Given the description of an element on the screen output the (x, y) to click on. 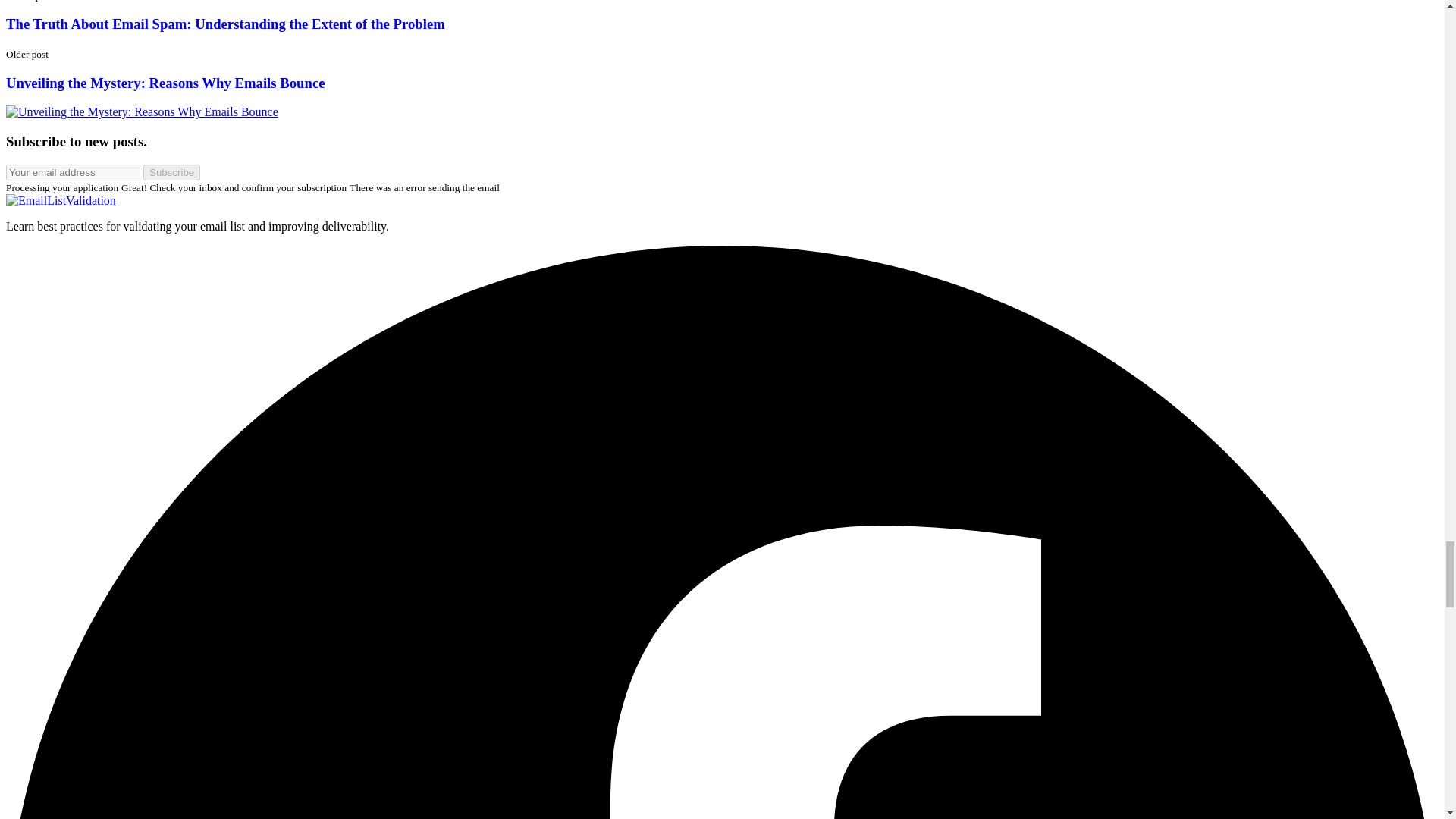
Unveiling the Mystery: Reasons Why Emails Bounce (164, 82)
Subscribe (171, 172)
